Given the description of an element on the screen output the (x, y) to click on. 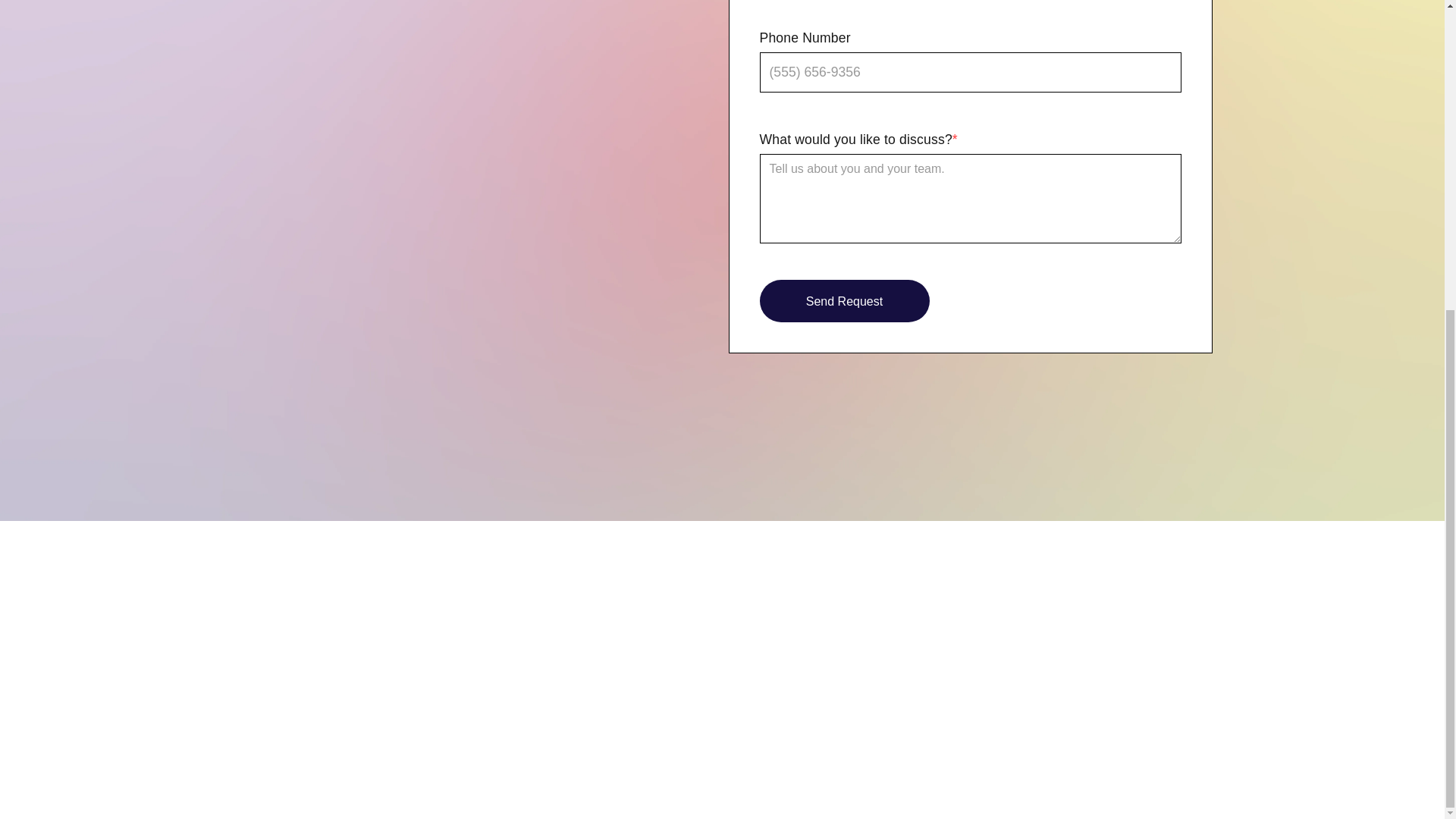
Send Request (845, 301)
Send Request (845, 301)
